Given the description of an element on the screen output the (x, y) to click on. 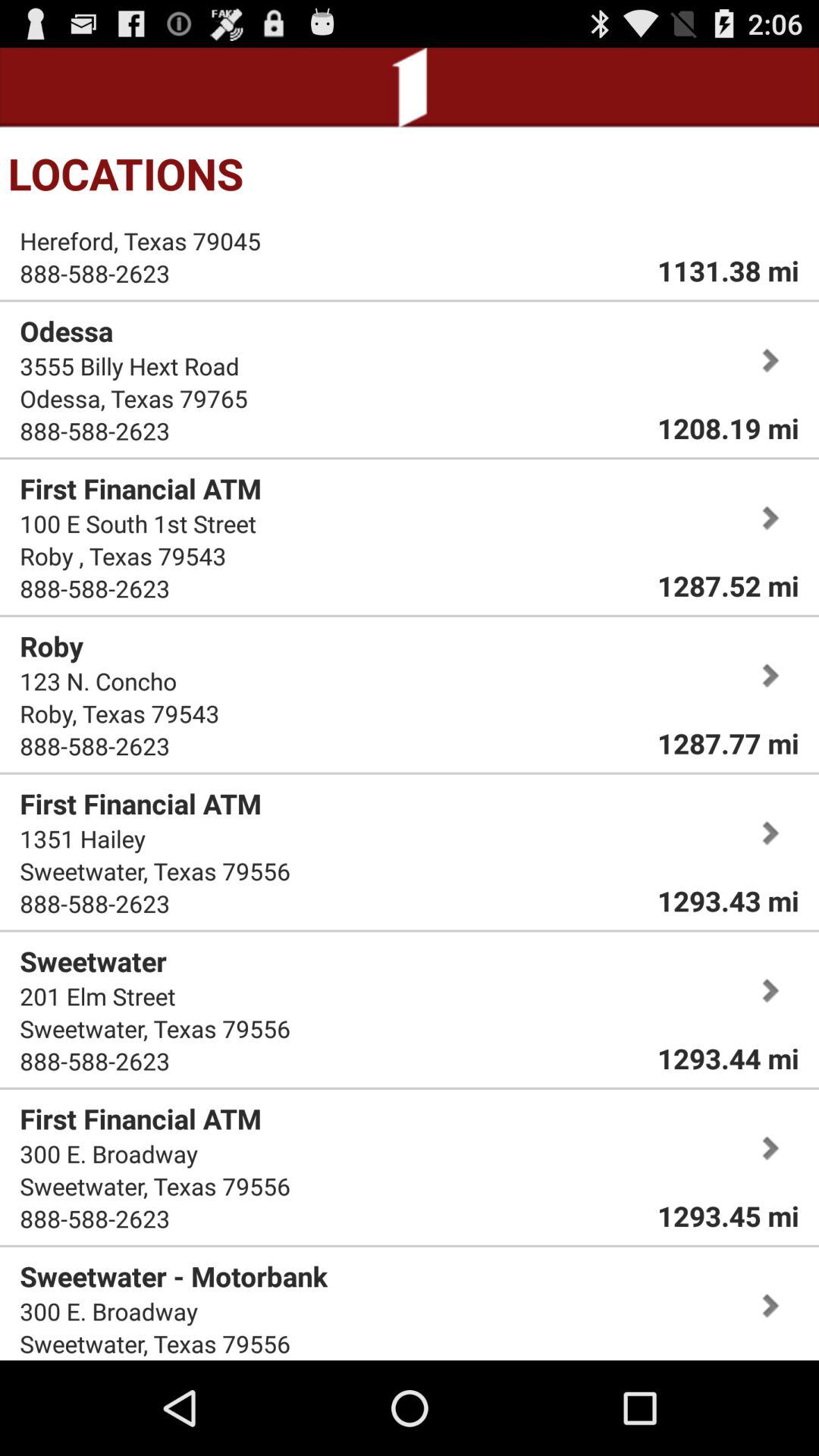
tap item above 888-588-2623 (140, 240)
